Given the description of an element on the screen output the (x, y) to click on. 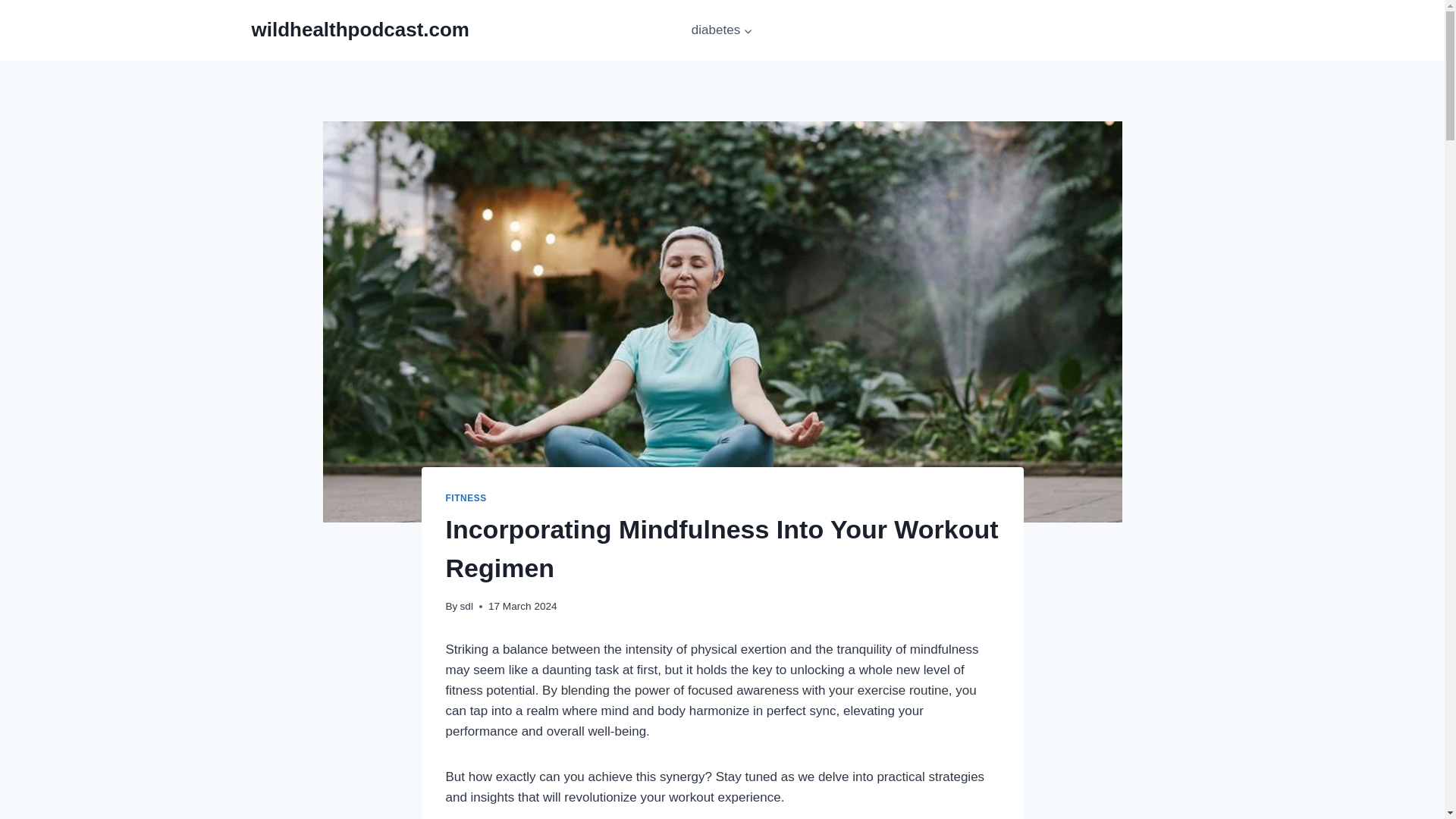
diabetes (722, 30)
wildhealthpodcast.com (360, 29)
FITNESS (465, 498)
sdl (466, 605)
